Given the description of an element on the screen output the (x, y) to click on. 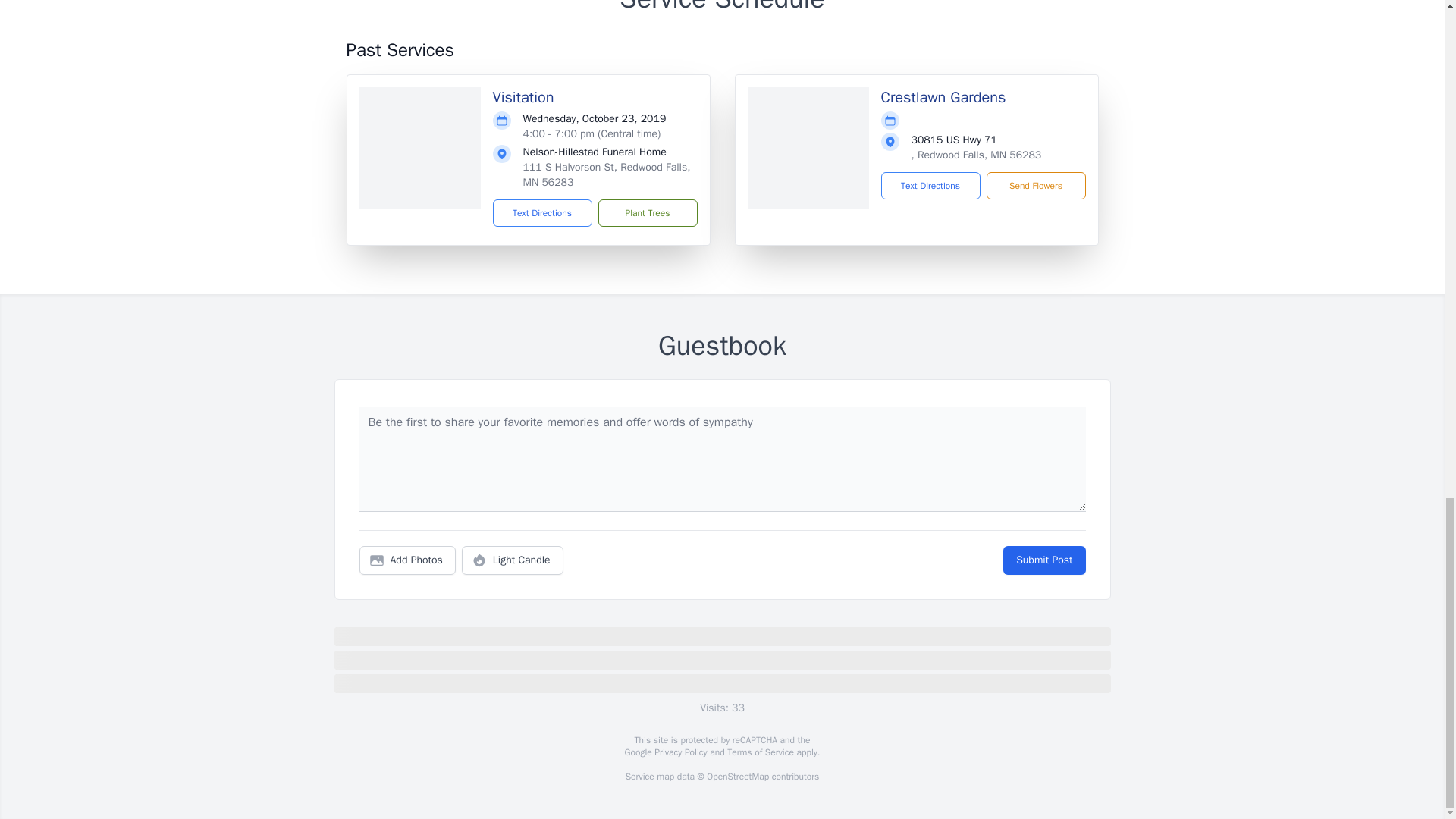
, Redwood Falls, MN 56283 (976, 154)
OpenStreetMap (737, 776)
Send Flowers (1034, 185)
Text Directions (929, 185)
Terms of Service (759, 752)
Text Directions (542, 212)
Plant Trees (646, 212)
111 S Halvorson St, Redwood Falls, MN 56283 (606, 174)
Add Photos (407, 560)
Light Candle (512, 560)
